Given the description of an element on the screen output the (x, y) to click on. 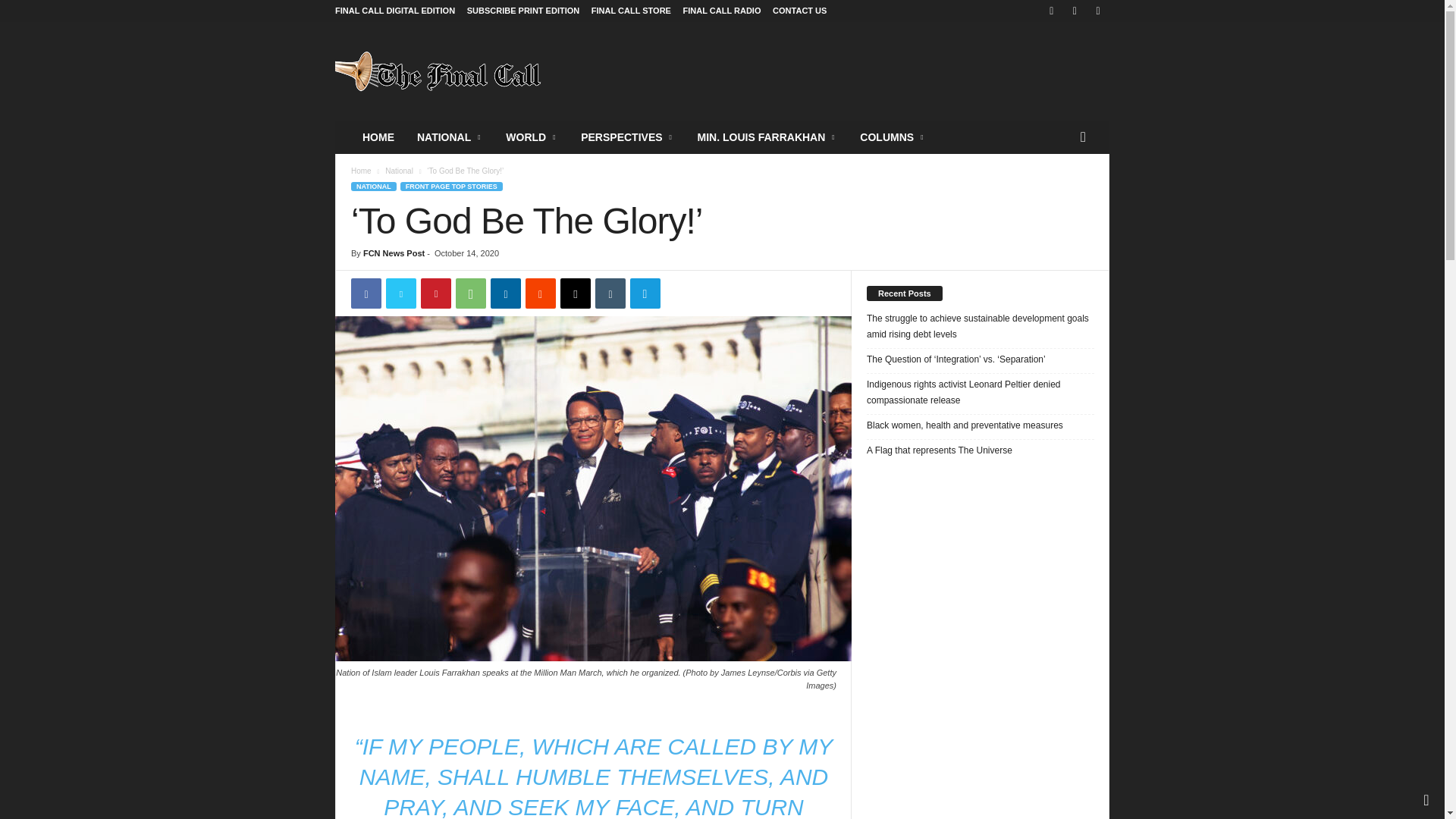
SUBSCRIBE PRINT EDITION (523, 10)
NATIONAL (450, 136)
Final Call News (437, 70)
CONTACT US (800, 10)
FINAL CALL STORE (631, 10)
FINAL CALL DIGITAL EDITION (394, 10)
HOME (378, 136)
FINAL CALL RADIO (721, 10)
